Given the description of an element on the screen output the (x, y) to click on. 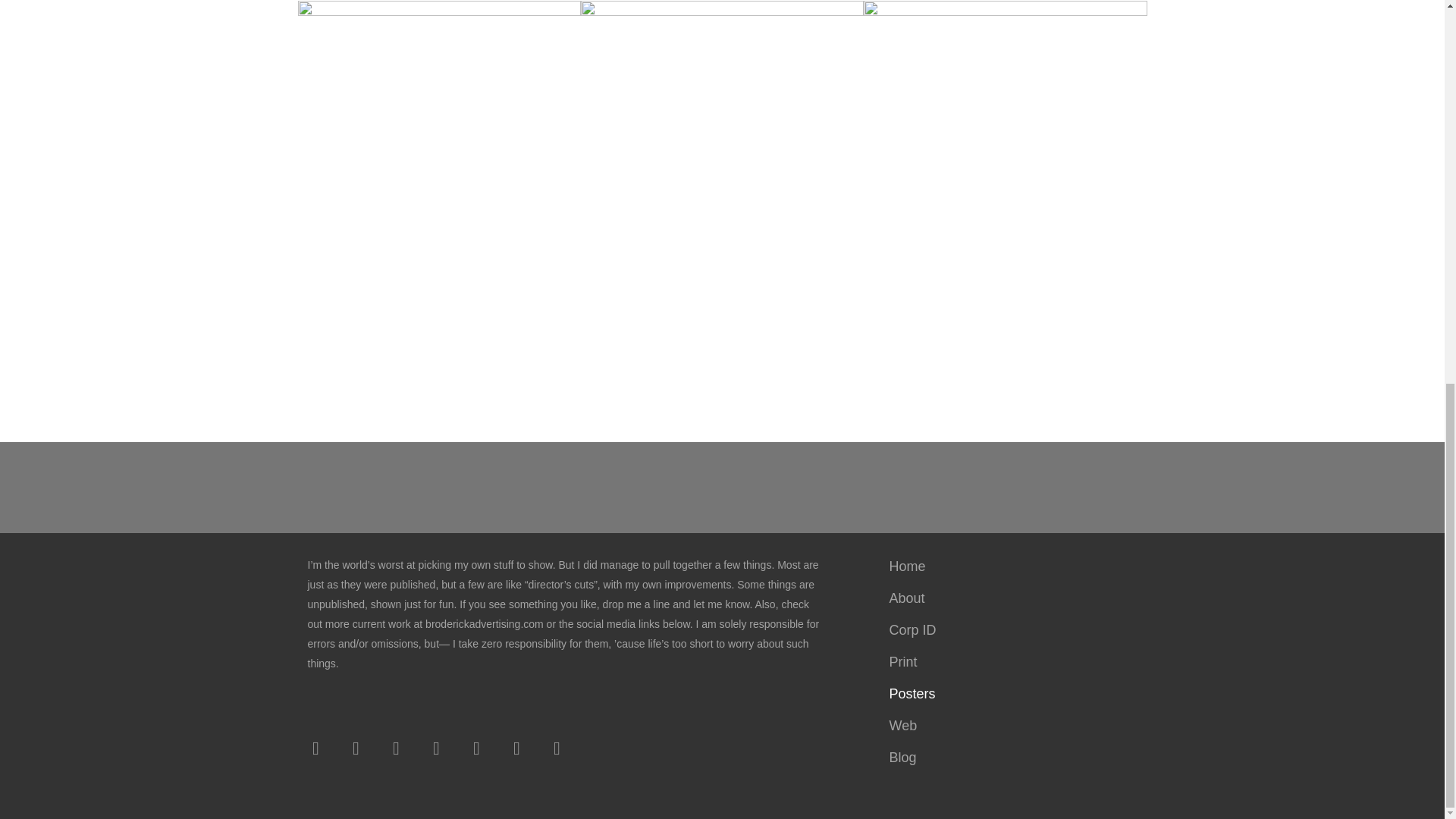
Facebook-messenger (556, 748)
Corp ID (1010, 630)
Blog (1010, 757)
Home (1010, 566)
Print (1010, 662)
Web (1010, 726)
Dribbble (517, 748)
Behance (476, 748)
Facebook (315, 748)
Posters (1010, 694)
Instagram (395, 748)
Linkedin-in (436, 748)
Twitter (355, 748)
About (1010, 598)
